Given the description of an element on the screen output the (x, y) to click on. 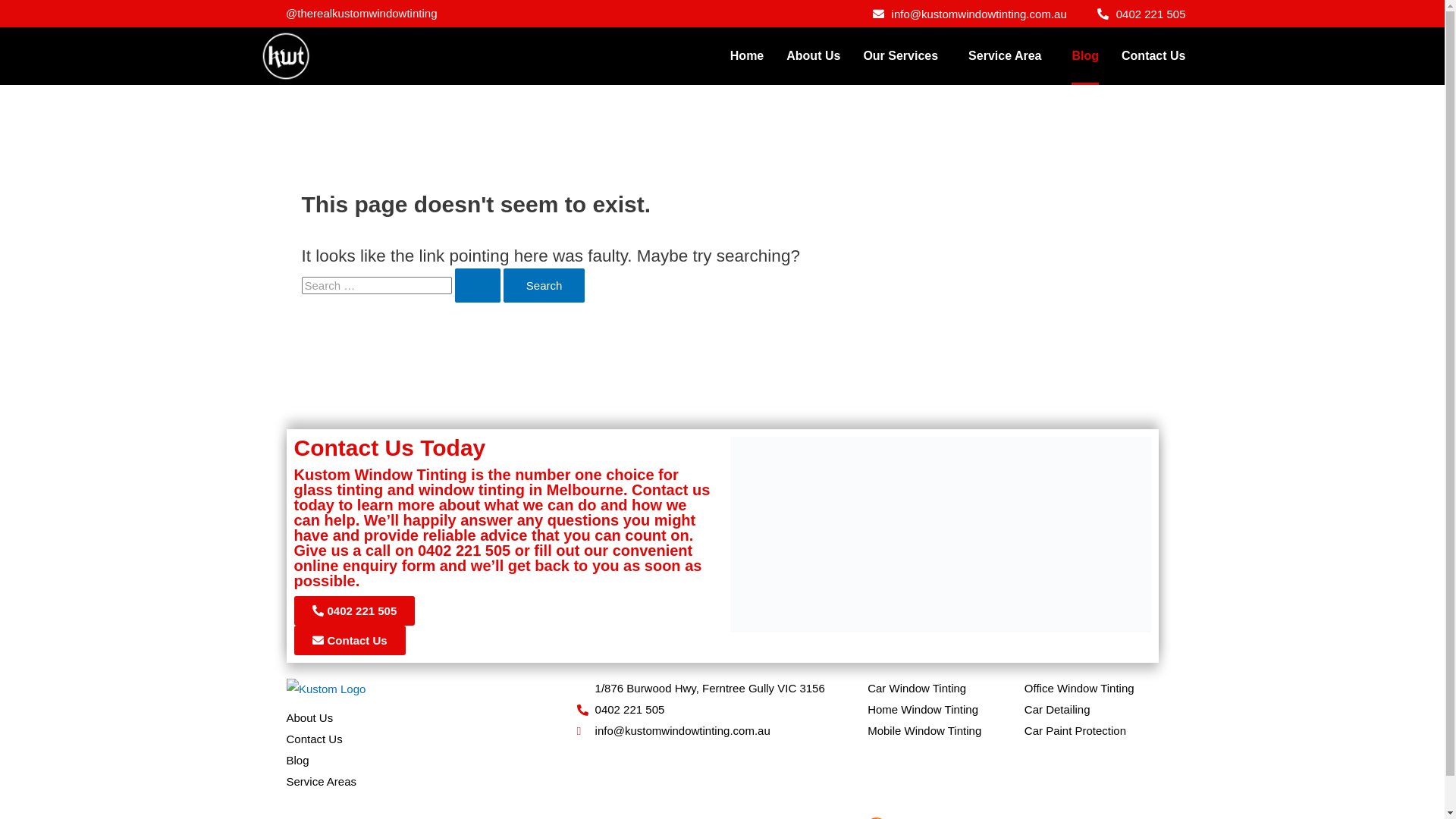
Blog Element type: text (431, 760)
0402 221 505 Element type: text (722, 709)
info@kustomwindowtinting.com.au Element type: text (969, 13)
@therealkustomwindowtinting Element type: text (355, 13)
Service Areas Element type: text (431, 781)
Mobile Window Tinting Element type: text (934, 730)
Search Element type: text (544, 285)
About Us Element type: text (813, 55)
About Us Element type: text (431, 717)
Blog Element type: text (1084, 55)
Car Paint Protection Element type: text (1091, 730)
Contact Us Element type: text (1153, 55)
Contact Us Element type: text (349, 640)
Car Detailing Element type: text (1091, 709)
Car Window Tinting Element type: text (934, 688)
Office Window Tinting Element type: text (1091, 688)
Contact Us Element type: text (431, 738)
Service Area Element type: text (1008, 55)
info@kustomwindowtinting.com.au Element type: text (722, 730)
Our Services Element type: text (903, 55)
Home Element type: text (746, 55)
0402 221 505 Element type: text (1141, 13)
0402 221 505 Element type: text (354, 610)
1/876 Burwood Hwy, Ferntree Gully VIC 3156 Element type: text (722, 688)
Home Window Tinting Element type: text (934, 709)
